Given the description of an element on the screen output the (x, y) to click on. 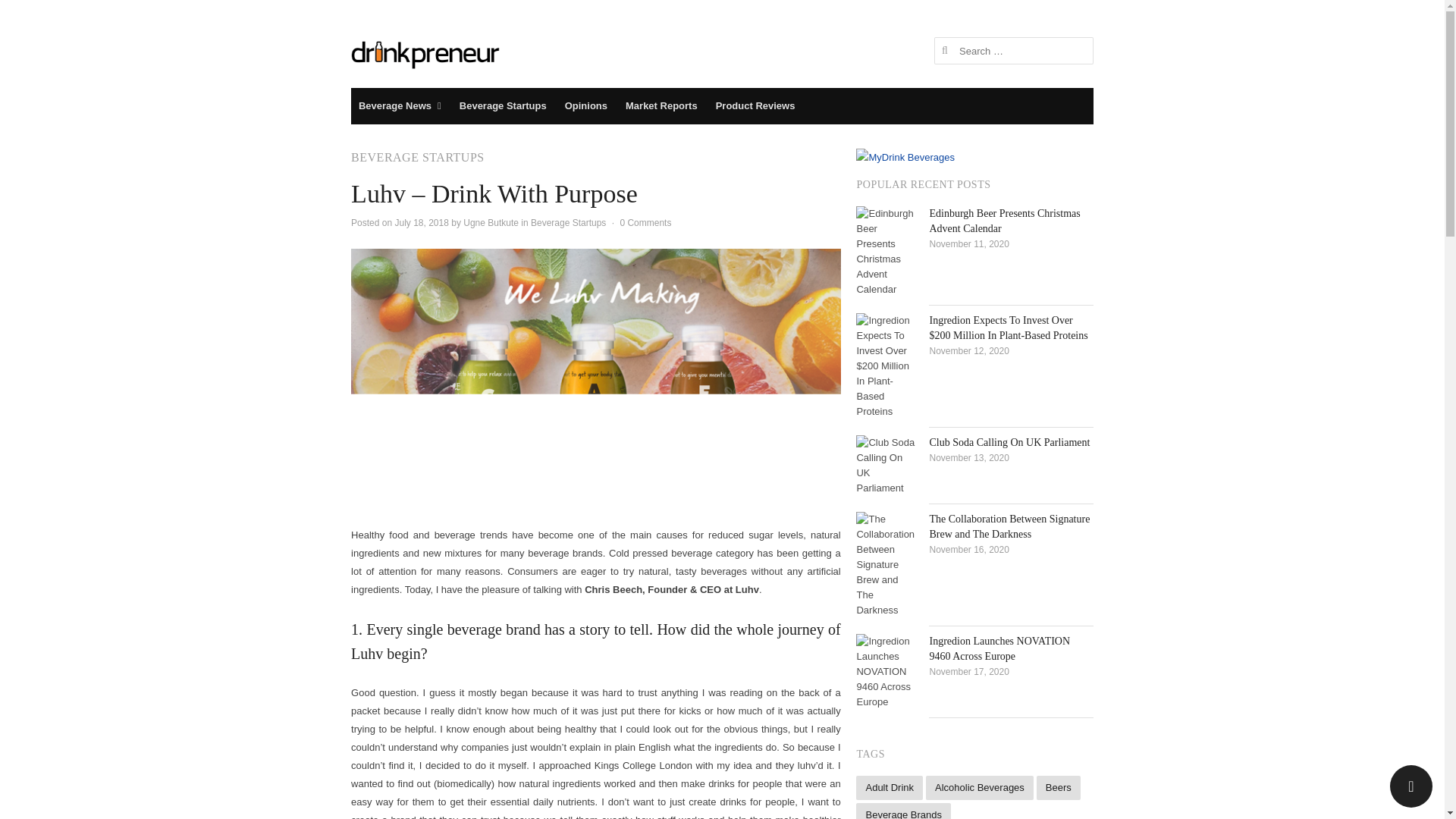
7:19 am (968, 244)
Market Reports (660, 105)
July 18, 2018 (421, 222)
View all posts by Ugne Butkute (490, 222)
Search (27, 13)
Product Reviews (755, 105)
Ugne Butkute (490, 222)
Beverage Startups (568, 222)
Beverage News (399, 105)
11:50 am (421, 222)
